Given the description of an element on the screen output the (x, y) to click on. 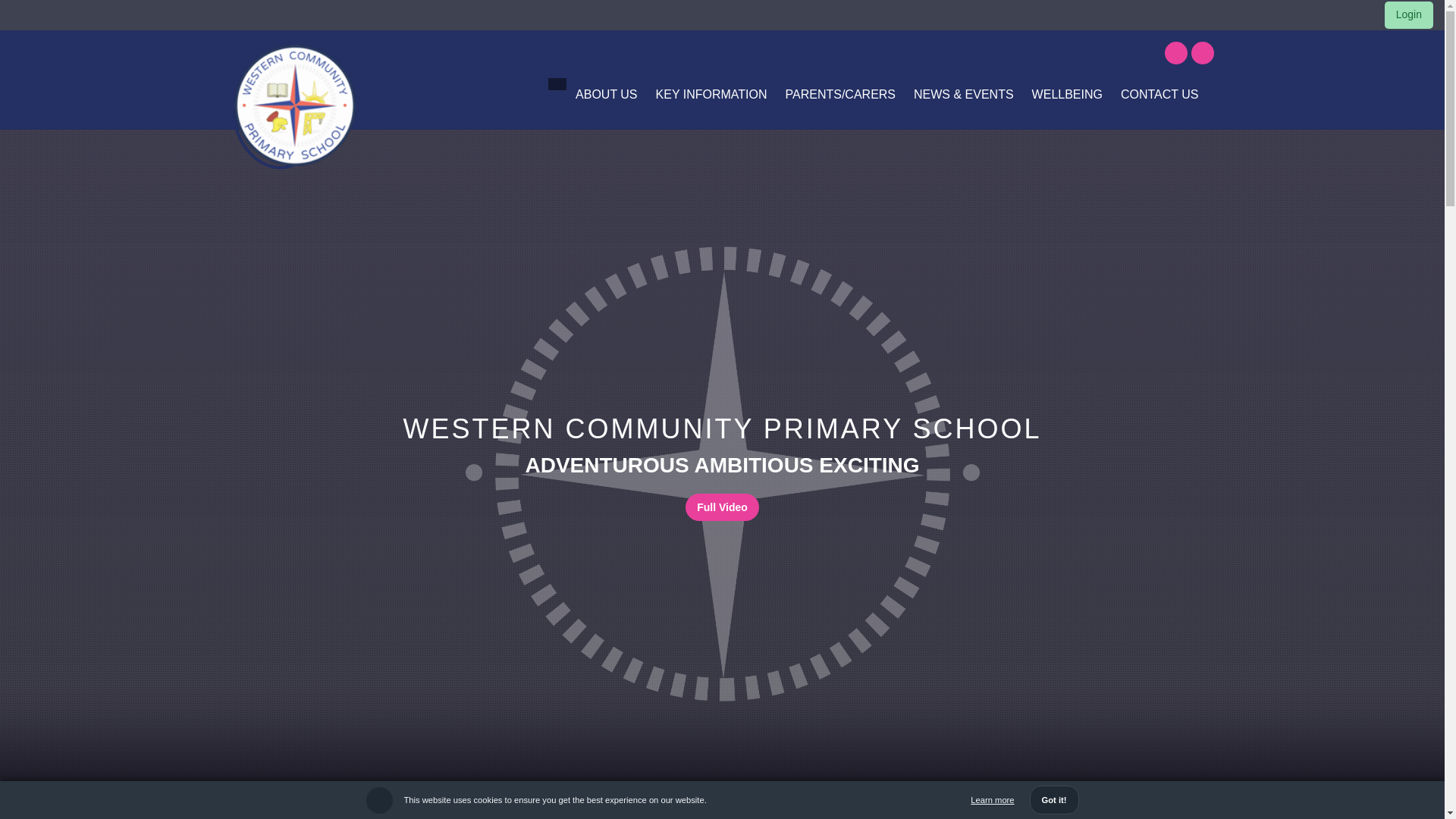
Key Information (711, 94)
Learn more (992, 799)
ABOUT US (606, 94)
Got it! (1053, 799)
Login (1408, 14)
KEY INFORMATION (711, 94)
About Us (606, 94)
